Given the description of an element on the screen output the (x, y) to click on. 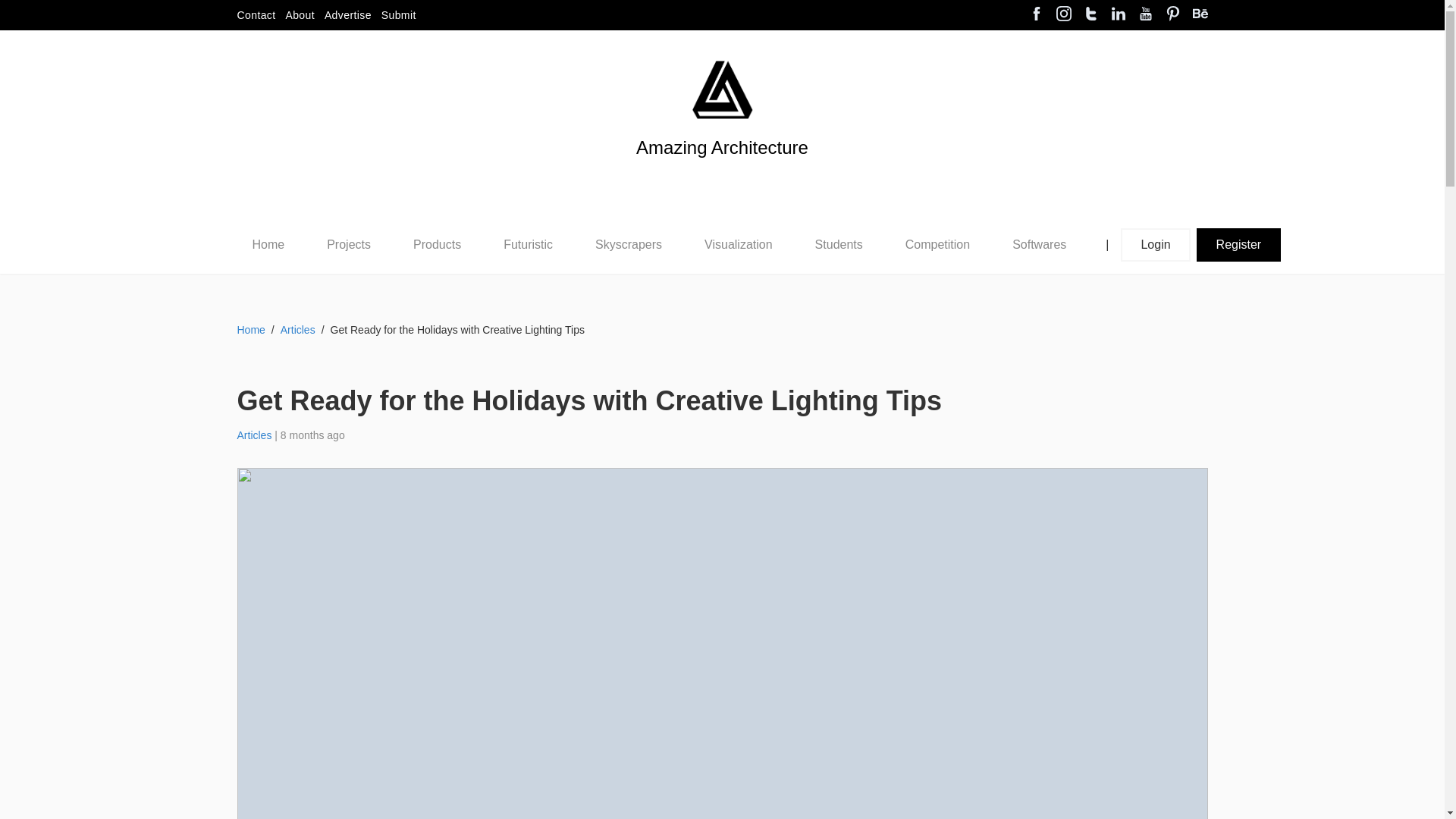
Amazing Architecture (721, 88)
Submit page (398, 15)
Home (267, 284)
Home (267, 283)
Projects (348, 284)
Contact (255, 15)
Contact us page (255, 15)
Amazing Architecture (722, 173)
Submit (398, 15)
Advertise (347, 15)
